Given the description of an element on the screen output the (x, y) to click on. 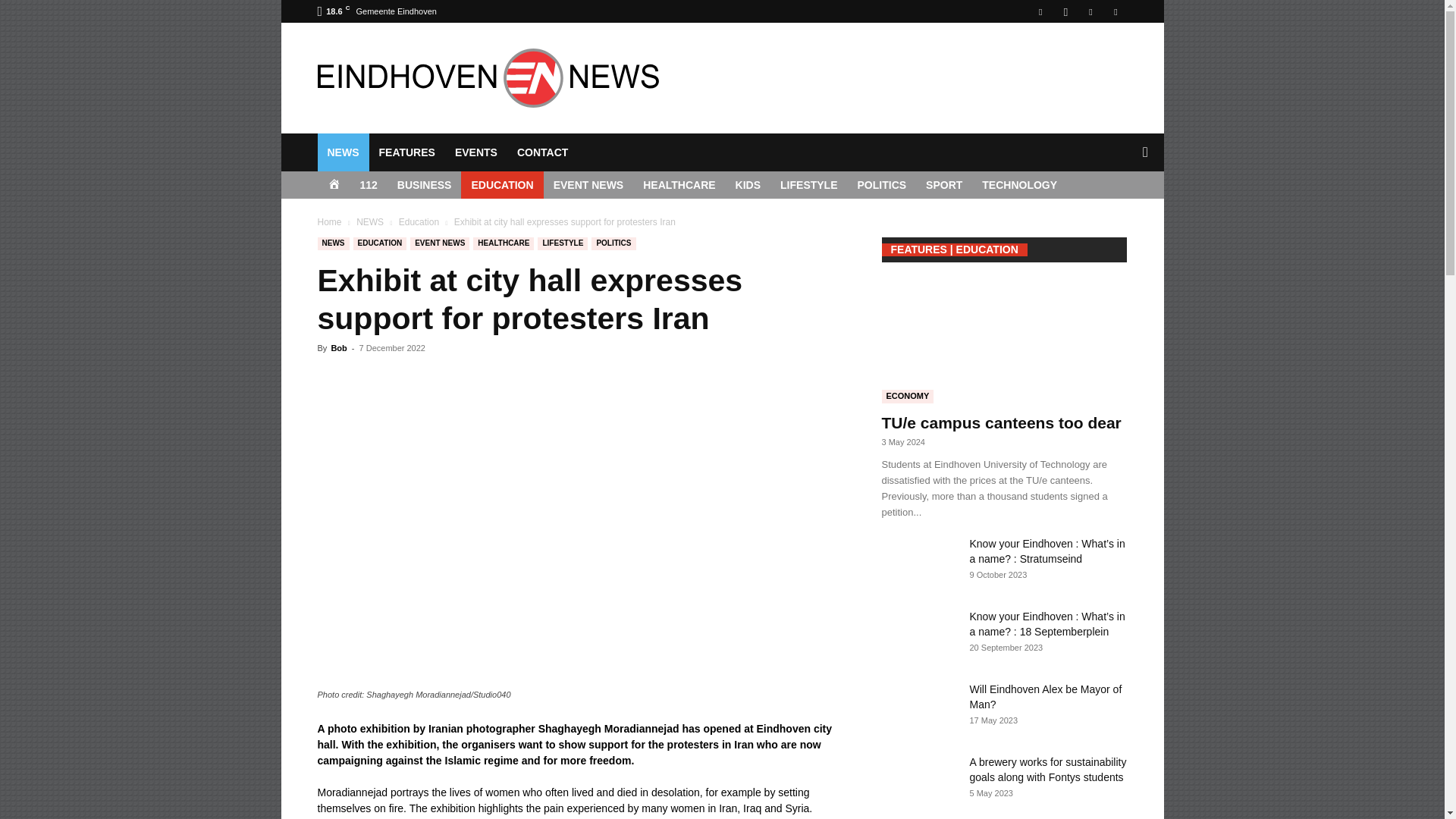
HEALTHCARE (679, 185)
FEATURES (406, 152)
EVENT NEWS (588, 185)
Linkedin (1090, 11)
CONTACT (542, 152)
Instagram (1065, 11)
EDUCATION (502, 185)
View all posts in NEWS (370, 222)
View all posts in Education (418, 222)
BUSINESS (424, 185)
Facebook (1040, 11)
EVENTS (475, 152)
112 (368, 185)
Twitter (1114, 11)
